Given the description of an element on the screen output the (x, y) to click on. 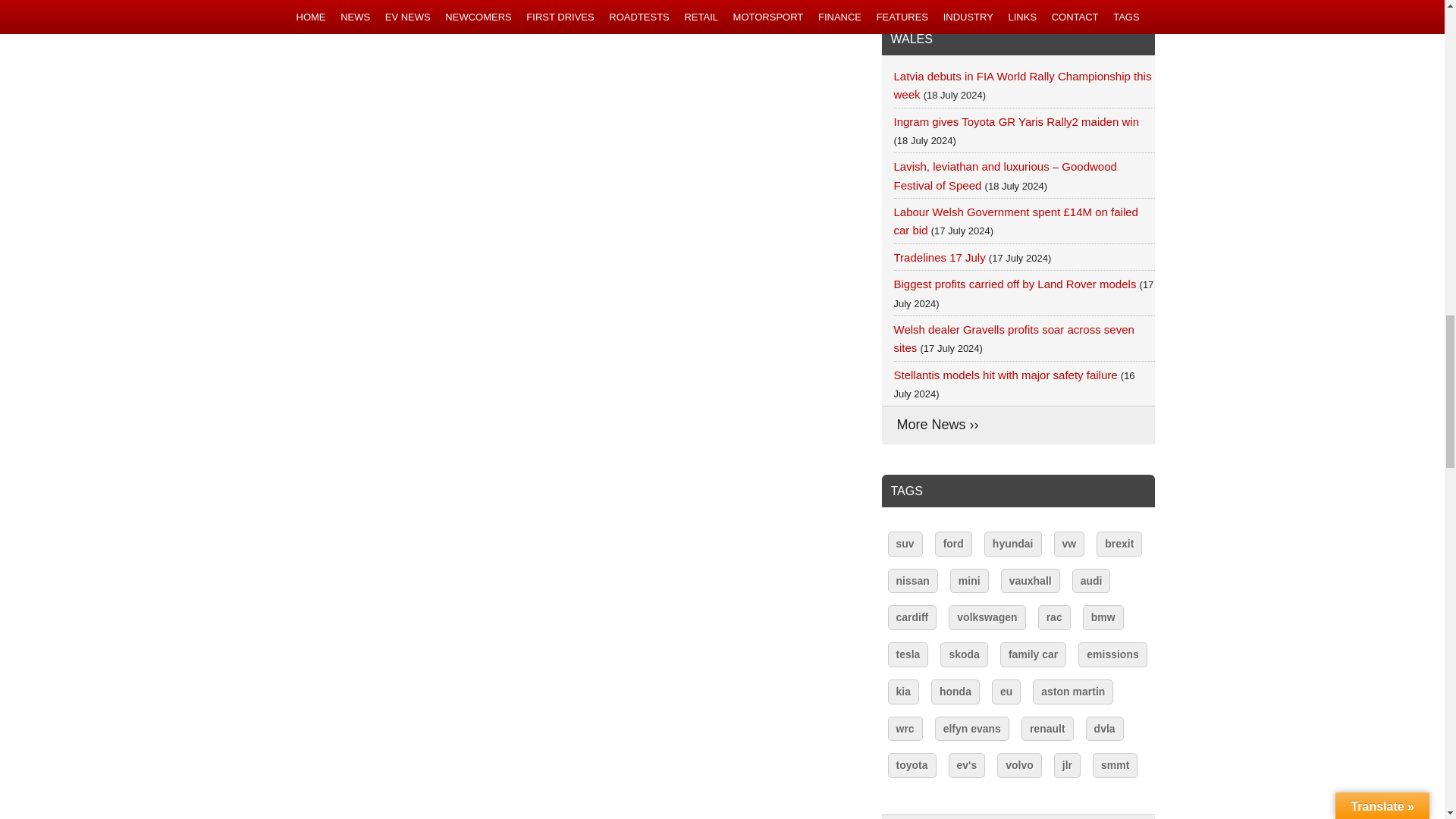
Permanent link to Tradelines 17 July (939, 256)
